Given the description of an element on the screen output the (x, y) to click on. 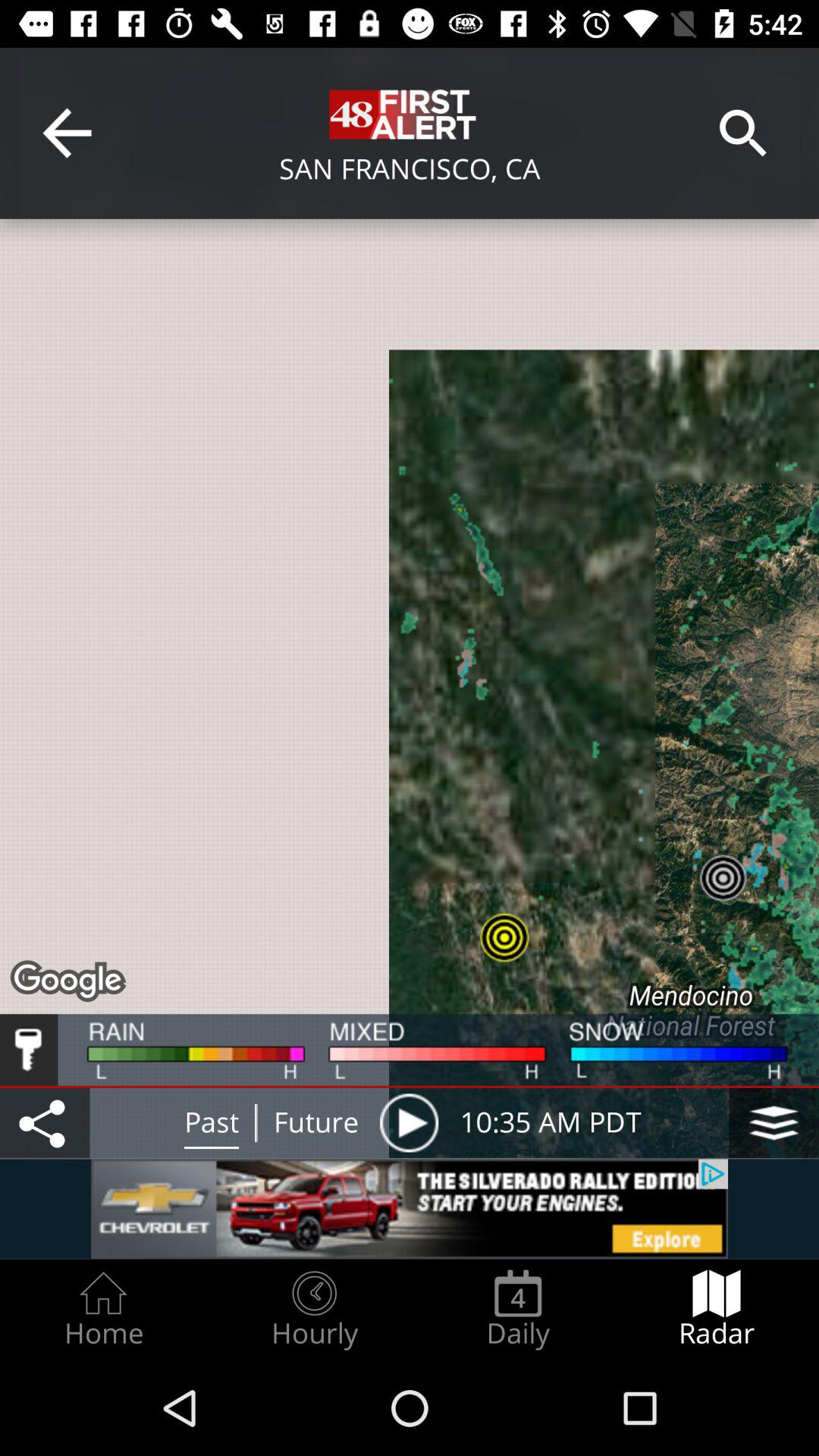
click the icon next to home radio button (314, 1309)
